Given the description of an element on the screen output the (x, y) to click on. 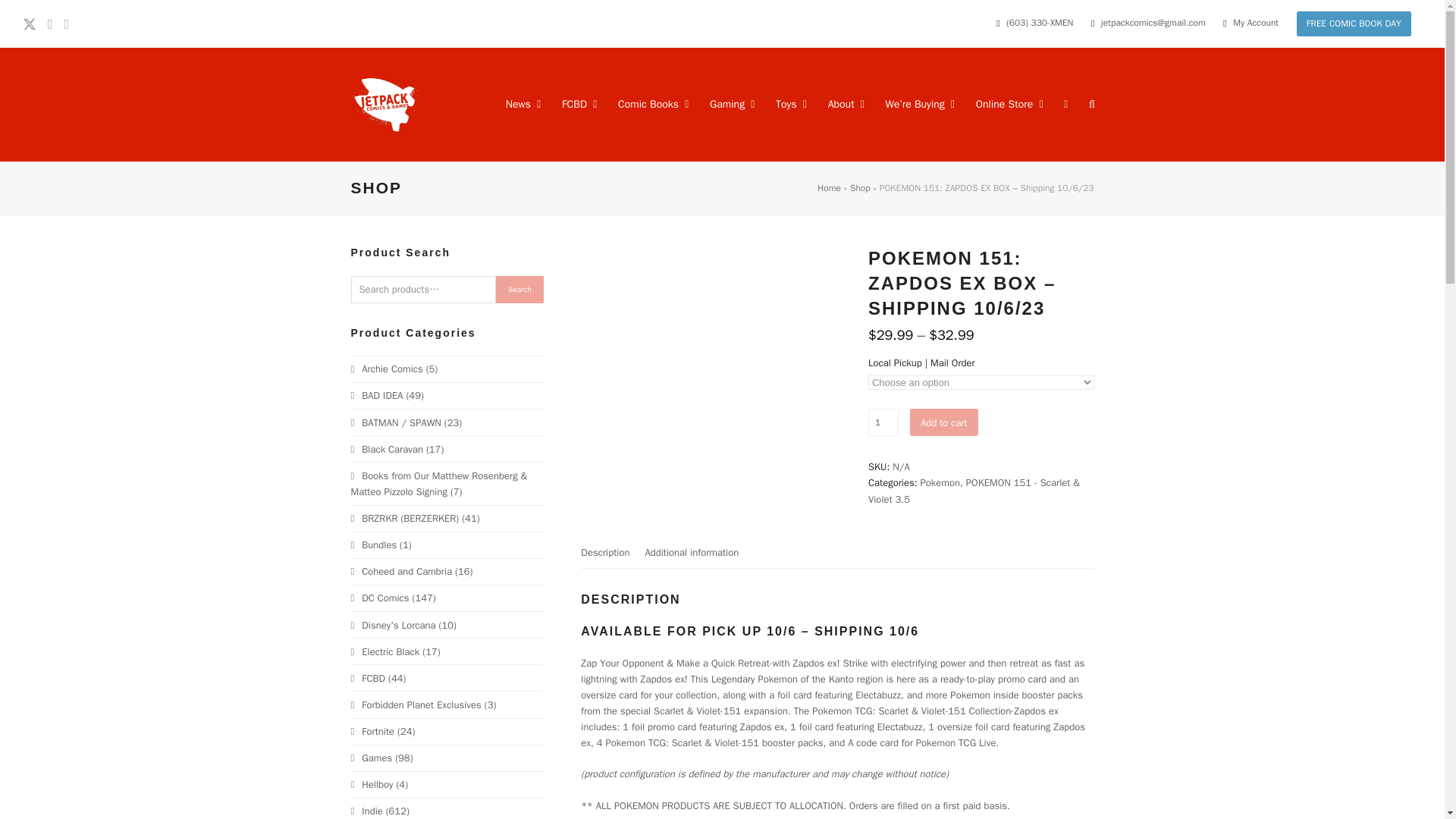
My Account (1255, 23)
1 (882, 421)
FREE COMIC BOOK DAY (1353, 23)
